Given the description of an element on the screen output the (x, y) to click on. 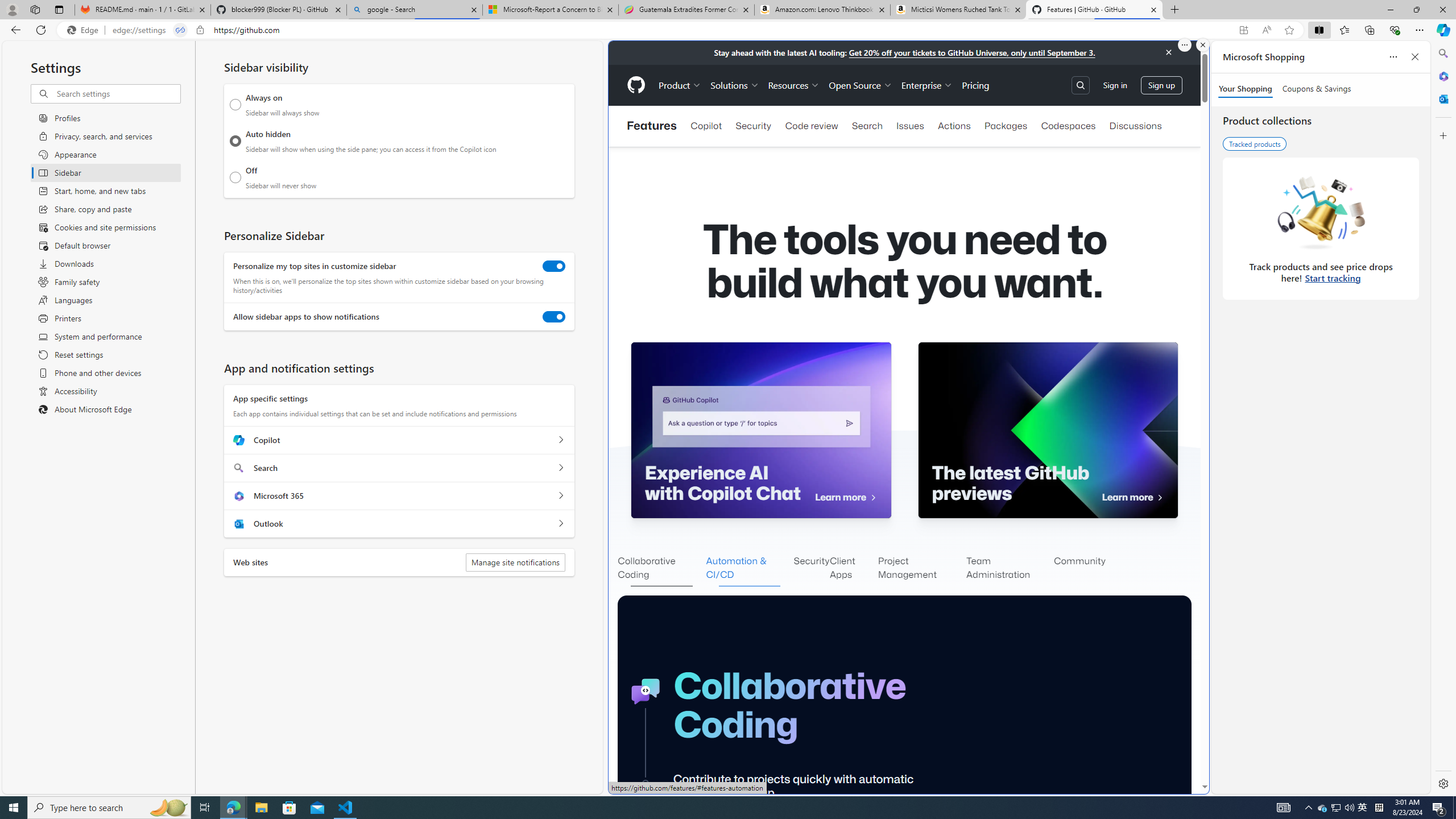
Search settings (117, 93)
google - Search (414, 9)
Allow sidebar apps to show notifications (553, 316)
Enterprise (927, 84)
App available. Install  (1243, 29)
Automation & CI/CD (749, 568)
Project Management (921, 568)
Community (1079, 568)
Open Source (860, 84)
Codespaces (1068, 125)
Discussions (1135, 125)
Always on Sidebar will always show (235, 104)
Features (651, 125)
